Given the description of an element on the screen output the (x, y) to click on. 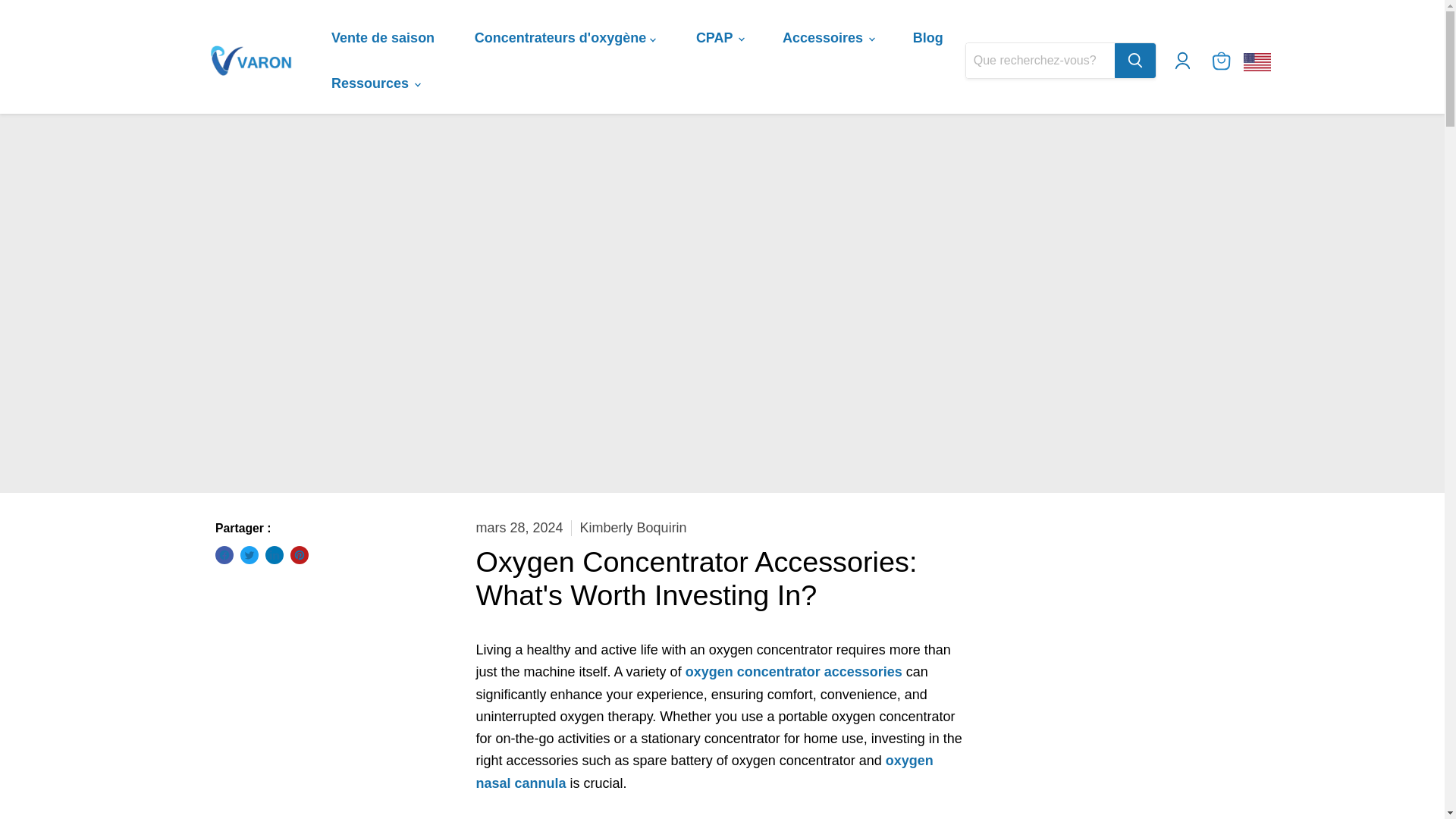
Vente de saison (382, 37)
